Given the description of an element on the screen output the (x, y) to click on. 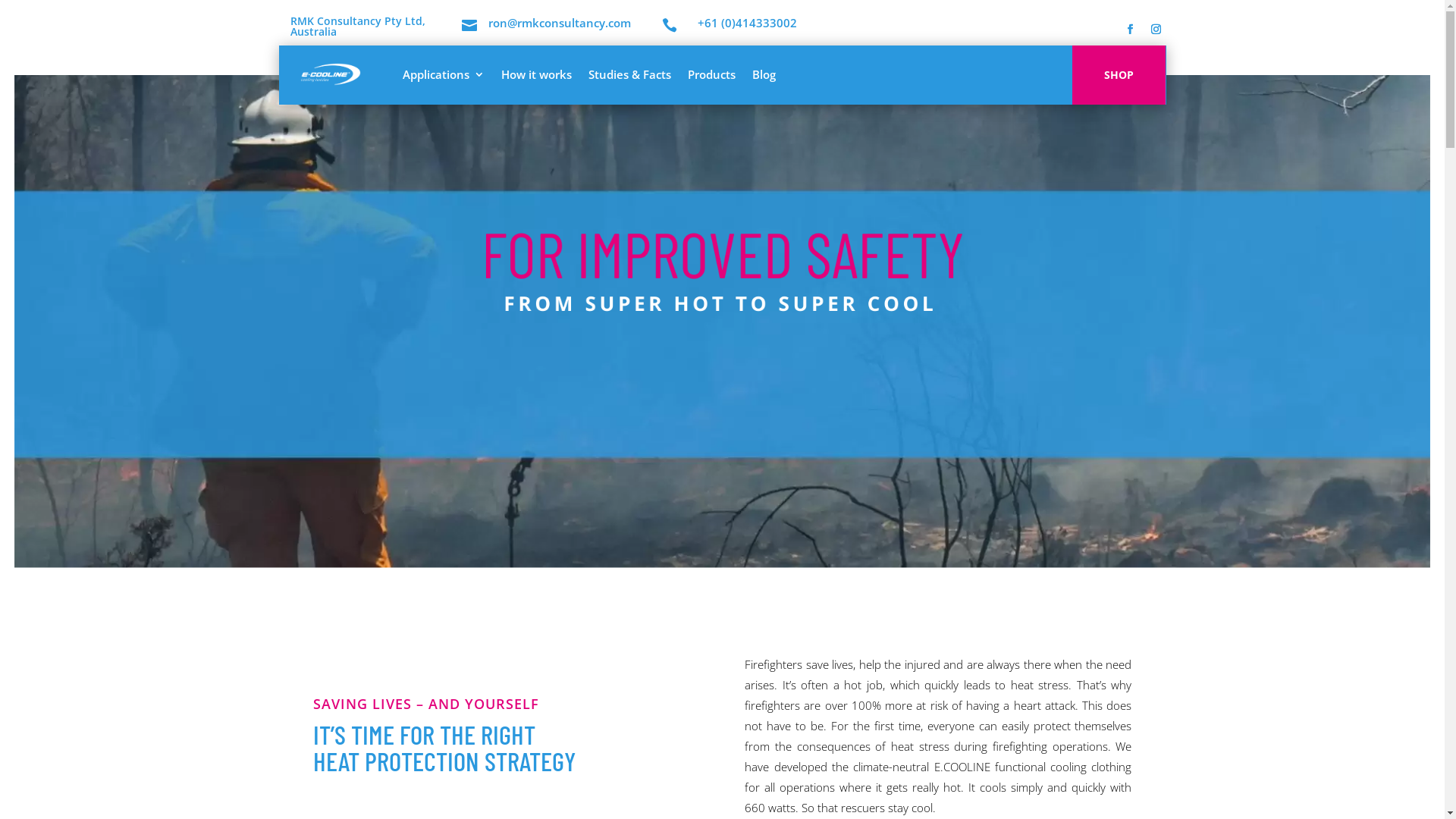
Products Element type: text (710, 74)
RMK Consultancy Pty Ltd, Australia Element type: text (356, 25)
How it works Element type: text (535, 74)
Studies & Facts Element type: text (629, 74)
ron@rmkconsultancy.com Element type: text (559, 22)
Follow on Instagram Element type: hover (1155, 29)
Applications Element type: text (442, 74)
website home(19) Element type: hover (729, 278)
SHOP Element type: text (1118, 74)
Follow on Facebook Element type: hover (1129, 29)
Blog Element type: text (763, 74)
